Given the description of an element on the screen output the (x, y) to click on. 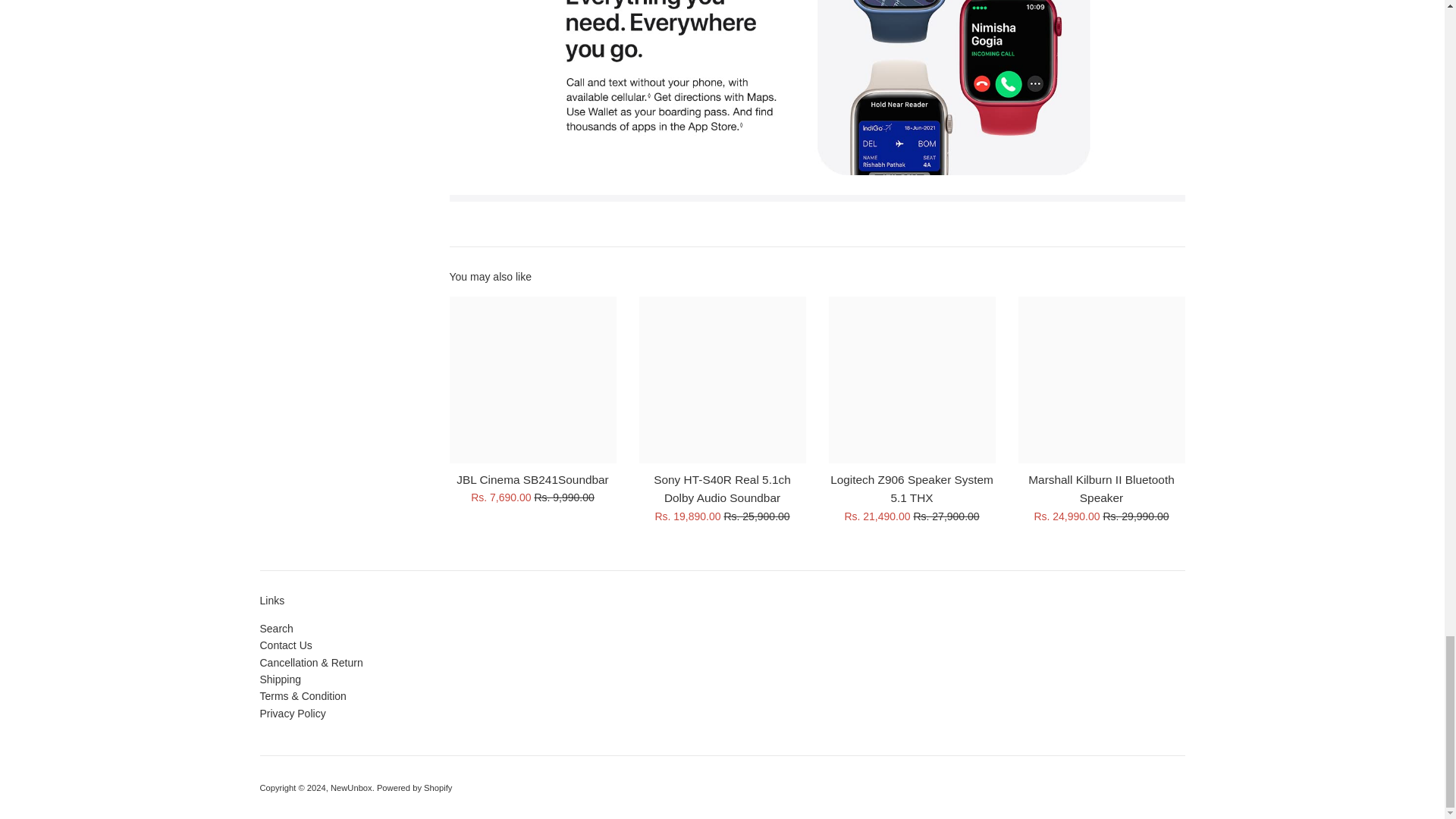
Logitech Z906 Speaker System 5.1 THX (911, 379)
Sony HT-S40R Real 5.1ch Dolby Audio Soundbar (722, 379)
Marshall Kilburn II Bluetooth Speaker (1101, 379)
JBL Cinema SB241Soundbar (531, 379)
